Given the description of an element on the screen output the (x, y) to click on. 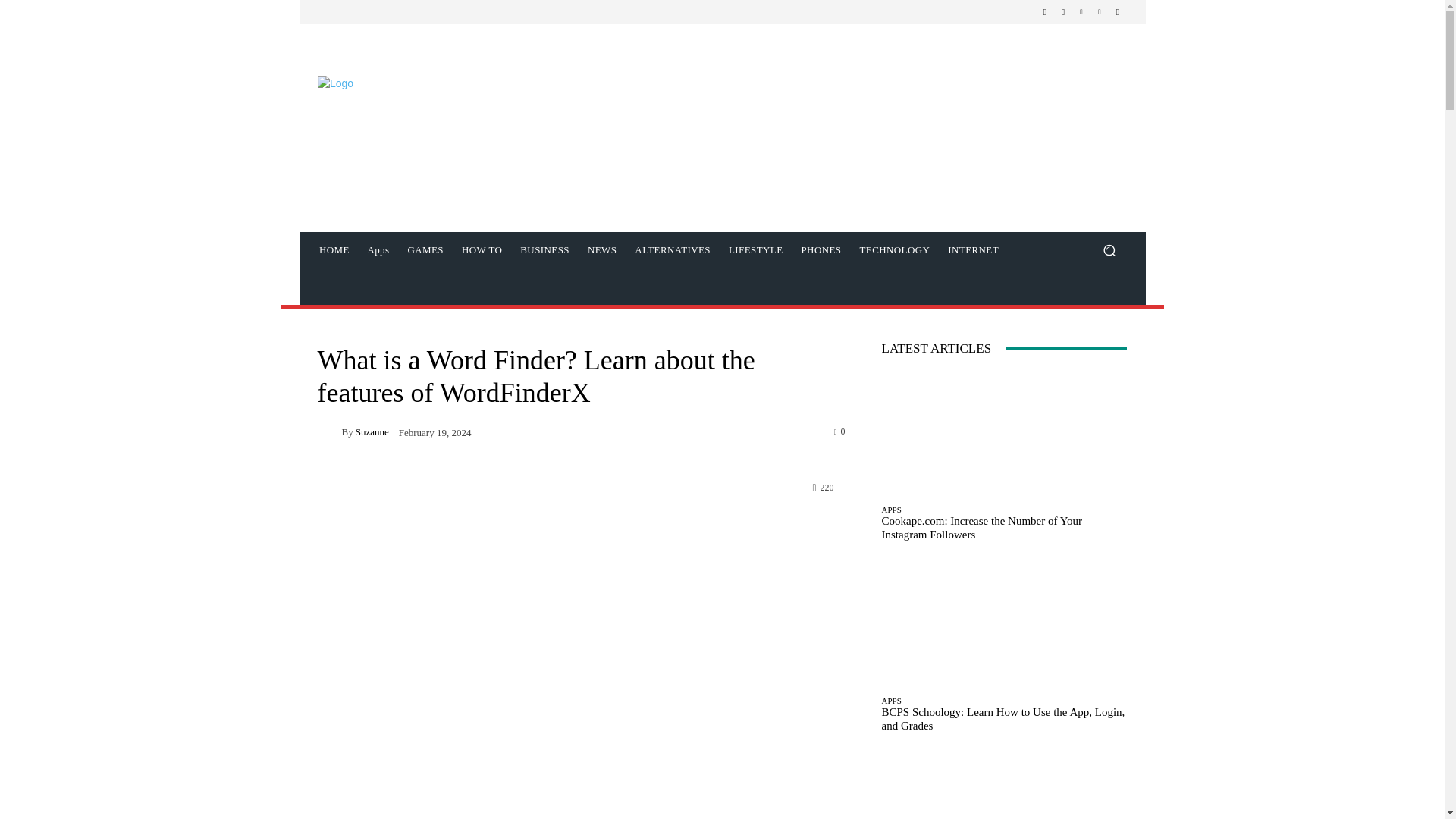
Instagram (1062, 12)
ALTERNATIVES (672, 249)
BUSINESS (544, 249)
Youtube (1117, 12)
suzanne (328, 431)
Facebook (1044, 12)
HOME (333, 249)
Twitter (1080, 12)
GAMES (424, 249)
PHONES (821, 249)
Vimeo (1099, 12)
Apps (377, 249)
NEWS (602, 249)
HOW TO (481, 249)
LIFESTYLE (755, 249)
